Given the description of an element on the screen output the (x, y) to click on. 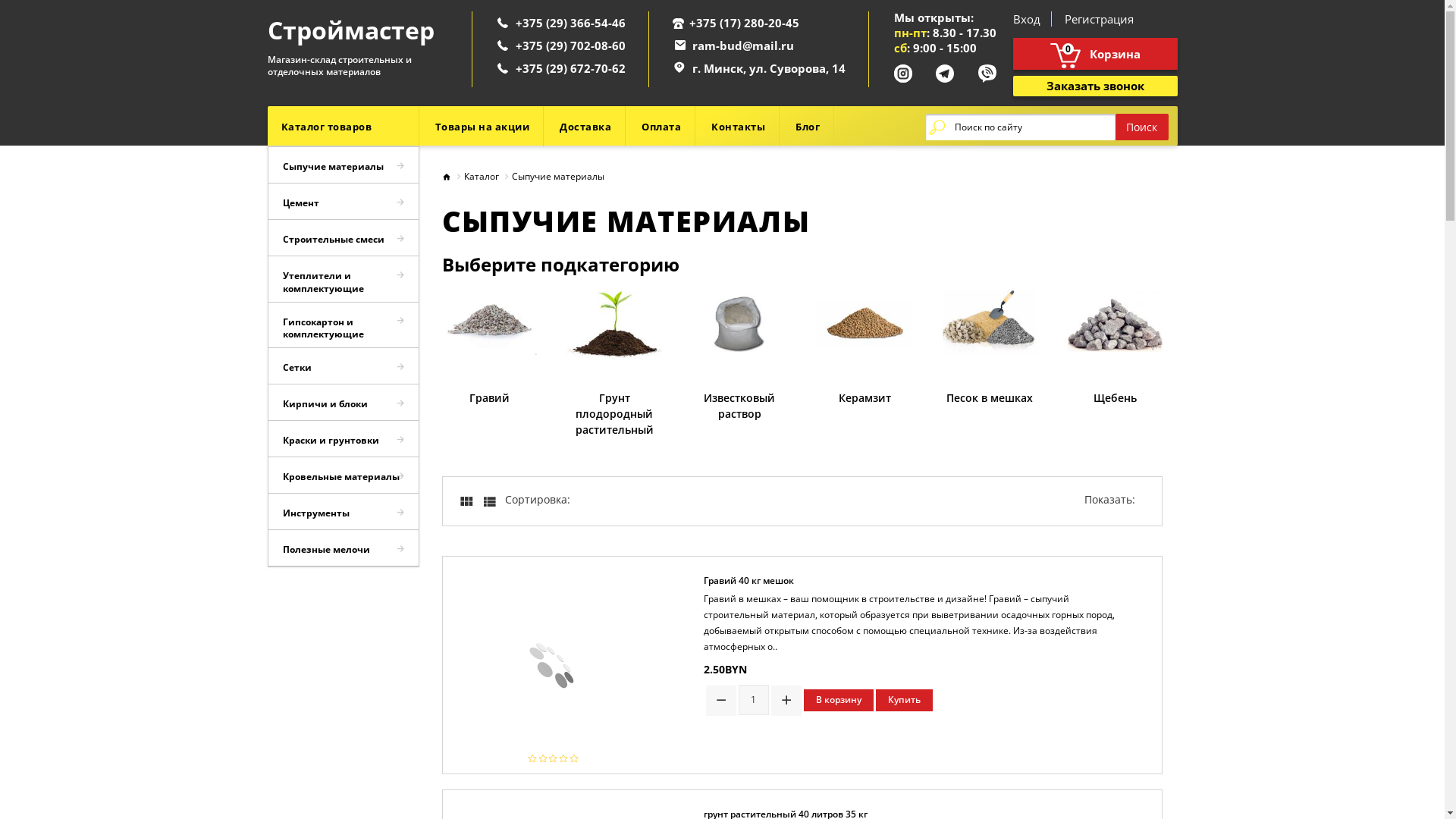
ram-bud@mail.ru Element type: text (742, 45)
+375 (29) 672-70-62 Element type: text (570, 67)
+375 (29) 702-08-60 Element type: text (570, 45)
+375 (29) 366-54-46 Element type: text (570, 22)
+375 (17) 280-20-45 Element type: text (743, 22)
